Given the description of an element on the screen output the (x, y) to click on. 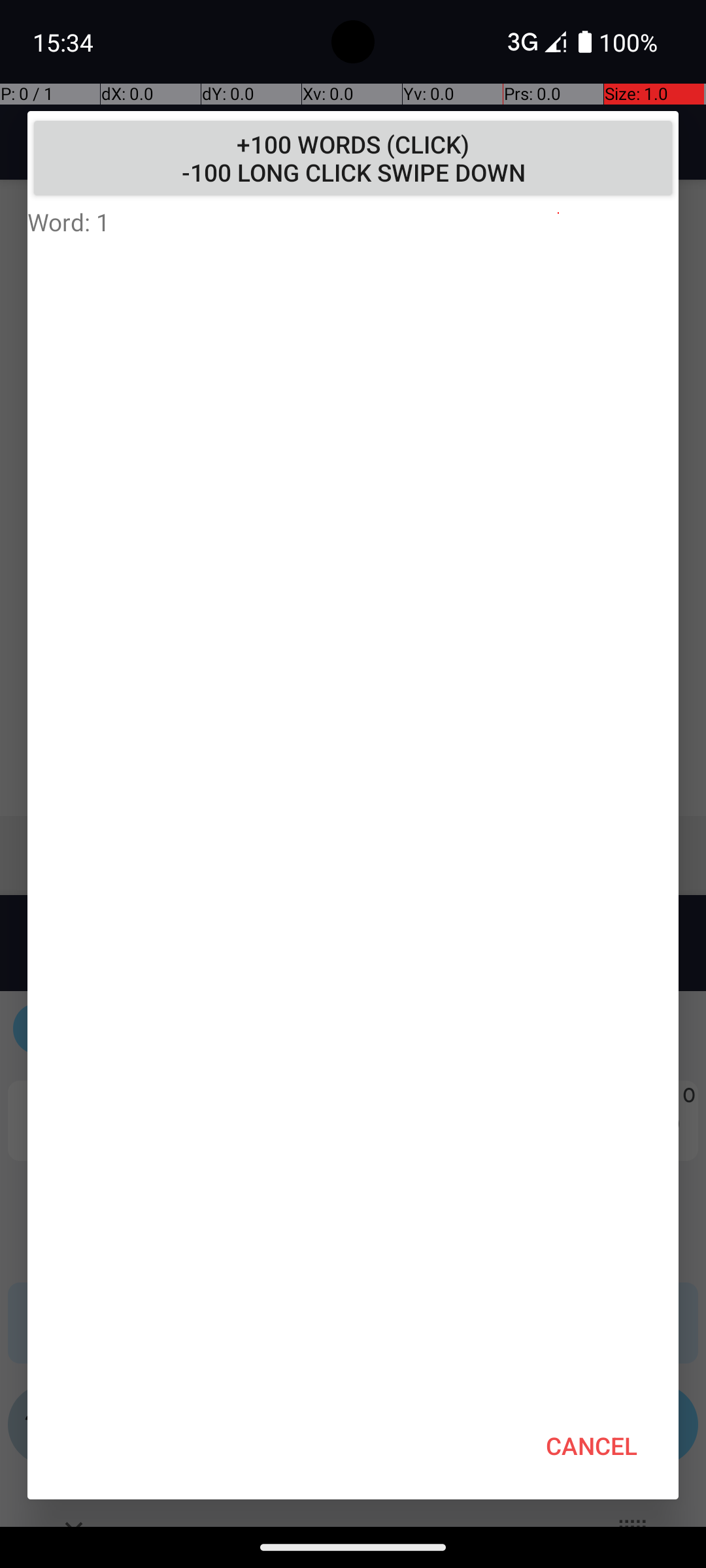
+100 WORDS (CLICK)
-100 LONG CLICK SWIPE DOWN Element type: android.widget.Button (352, 158)
Word: 1 Element type: android.widget.TextView (352, 221)
